Given the description of an element on the screen output the (x, y) to click on. 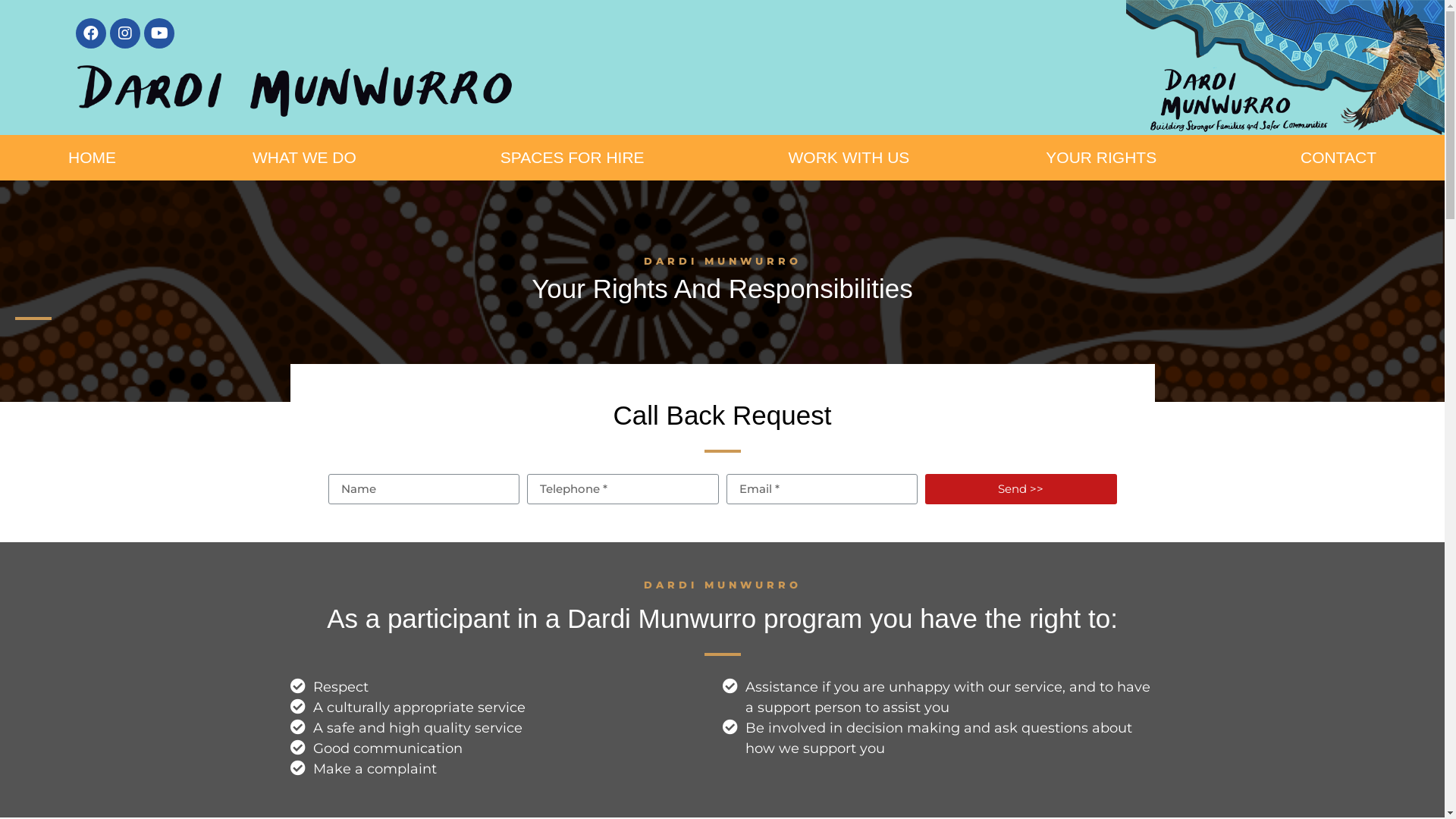
HOME Element type: text (92, 157)
Send >> Element type: text (1021, 488)
CONTACT Element type: text (1338, 157)
WORK WITH US Element type: text (849, 157)
SPACES FOR HIRE Element type: text (576, 157)
WHAT WE DO Element type: text (308, 157)
YOUR RIGHTS Element type: text (1104, 157)
